Given the description of an element on the screen output the (x, y) to click on. 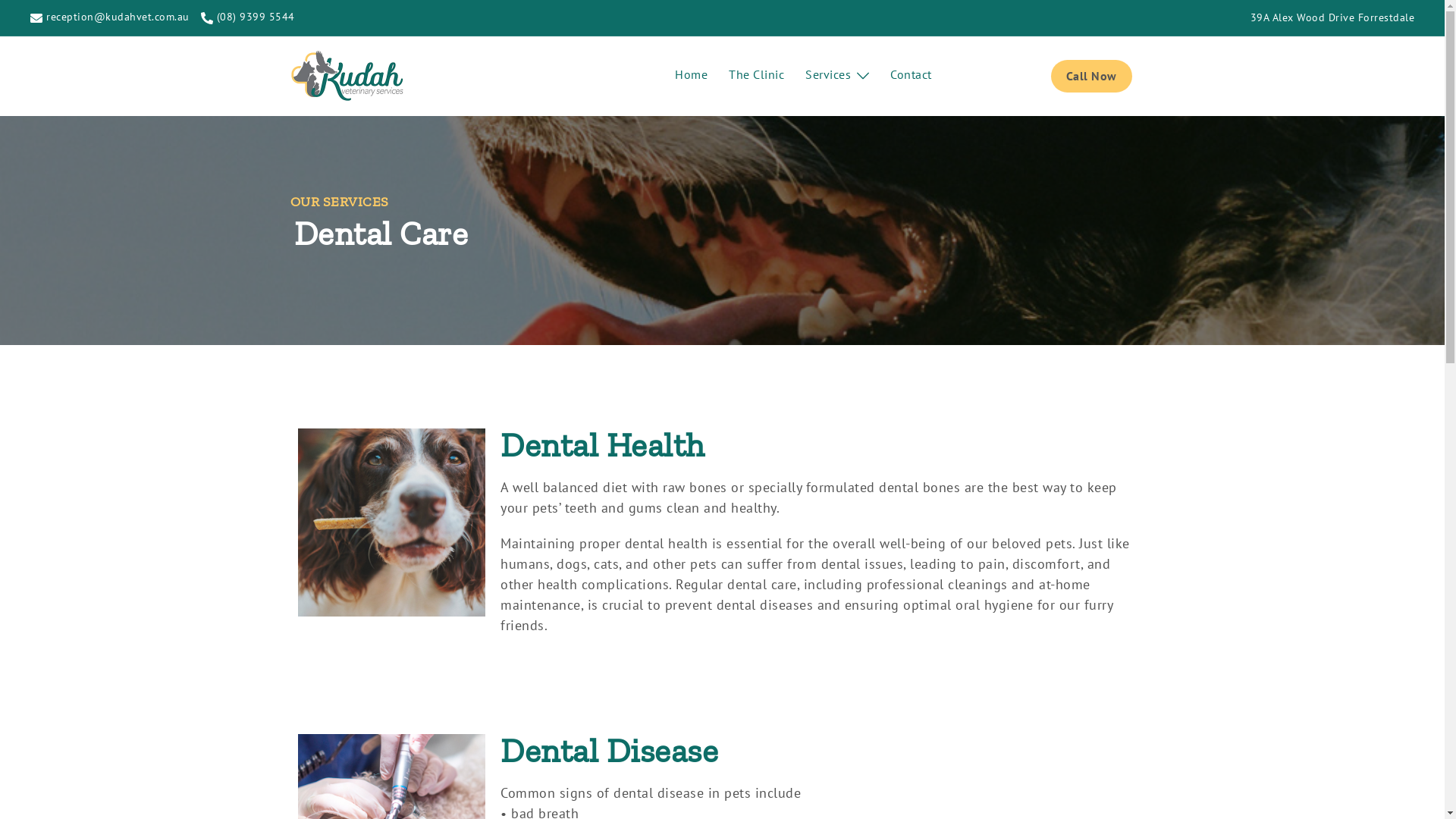
(08) 9399 5544 Element type: text (247, 17)
Contact Element type: text (910, 74)
Services Element type: text (827, 74)
Home Element type: text (690, 74)
Call Now Element type: text (1091, 75)
reception@kudahvet.com.au Element type: text (109, 17)
The Clinic Element type: text (756, 74)
Kudah Veterinary Services Element type: hover (346, 74)
